Given the description of an element on the screen output the (x, y) to click on. 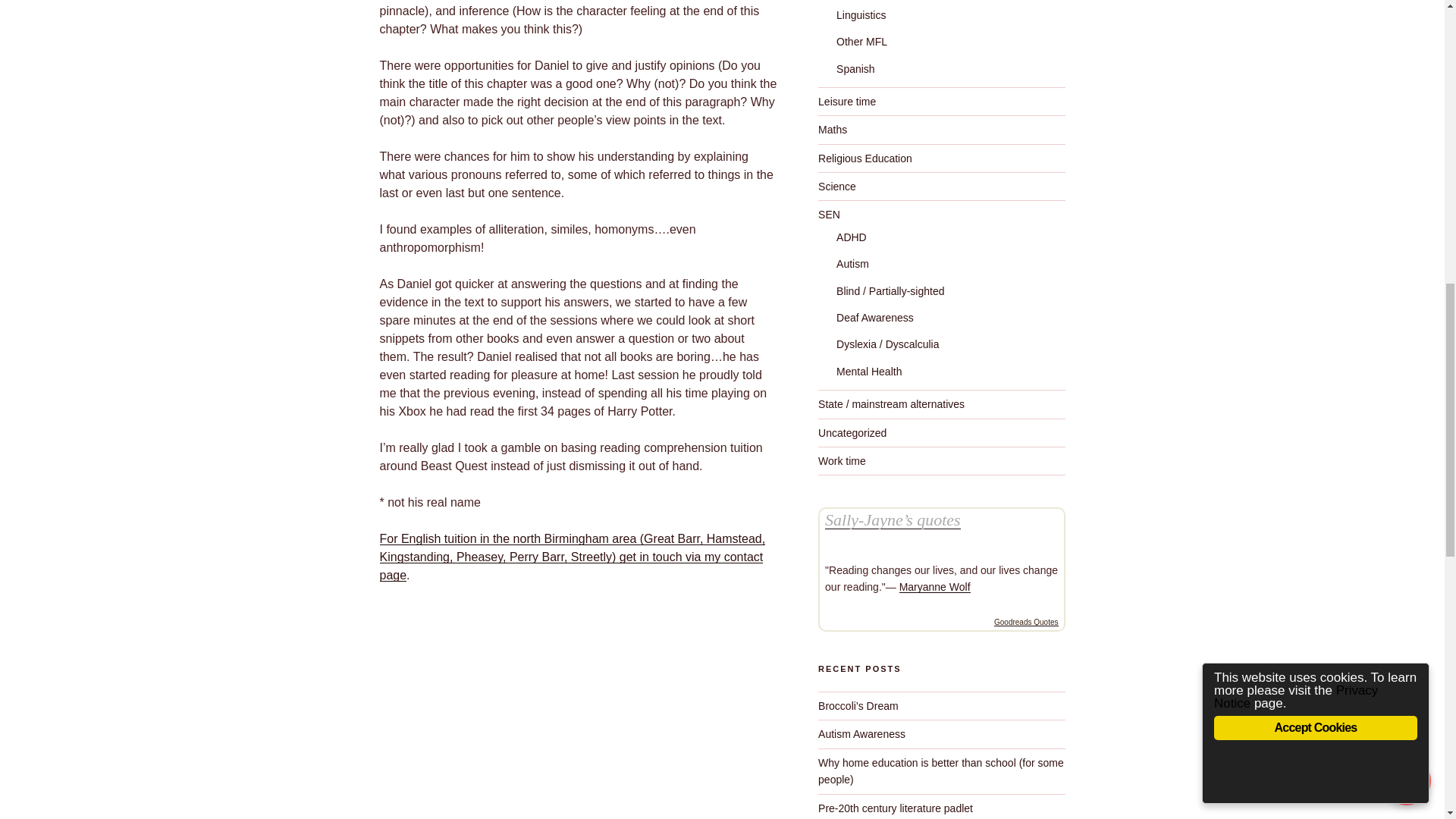
Home (571, 547)
Maryanne Wolf quotes (935, 586)
Leisure time (847, 101)
Home (570, 565)
get in touch via my contact page (570, 565)
Other MFL (860, 41)
Spanish (855, 68)
Linguistics (860, 15)
